Given the description of an element on the screen output the (x, y) to click on. 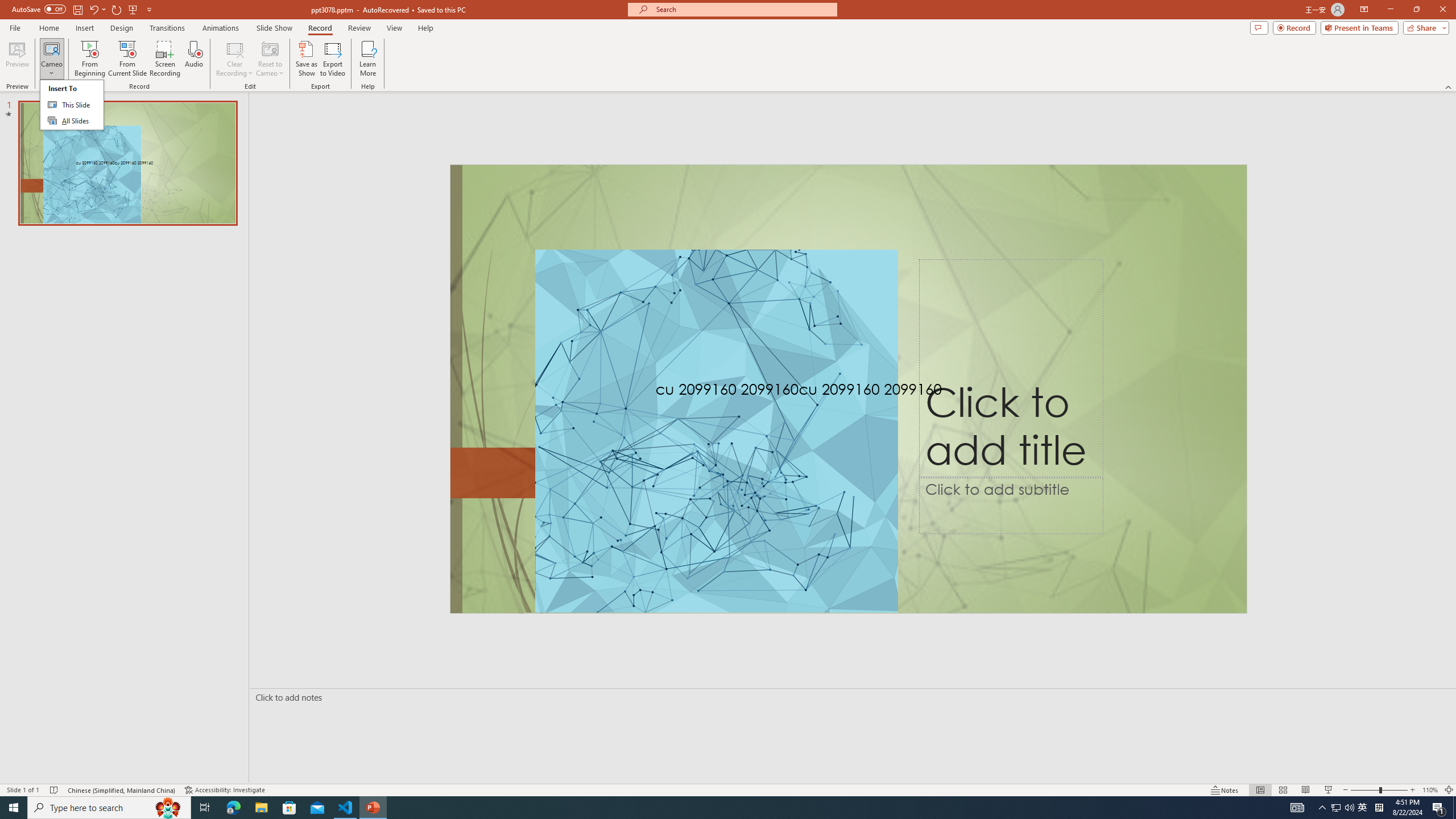
Action Center, 1 new notification (1439, 807)
Undo (92, 9)
Save as Show (1335, 807)
File Explorer (306, 58)
Audio (261, 807)
Ribbon Display Options (193, 58)
Zoom 110% (1364, 9)
Save (1430, 790)
From Beginning... (77, 9)
File Tab (89, 58)
Accessibility Checker Accessibility: Investigate (15, 27)
Customize Quick Access Toolbar (224, 790)
